Given the description of an element on the screen output the (x, y) to click on. 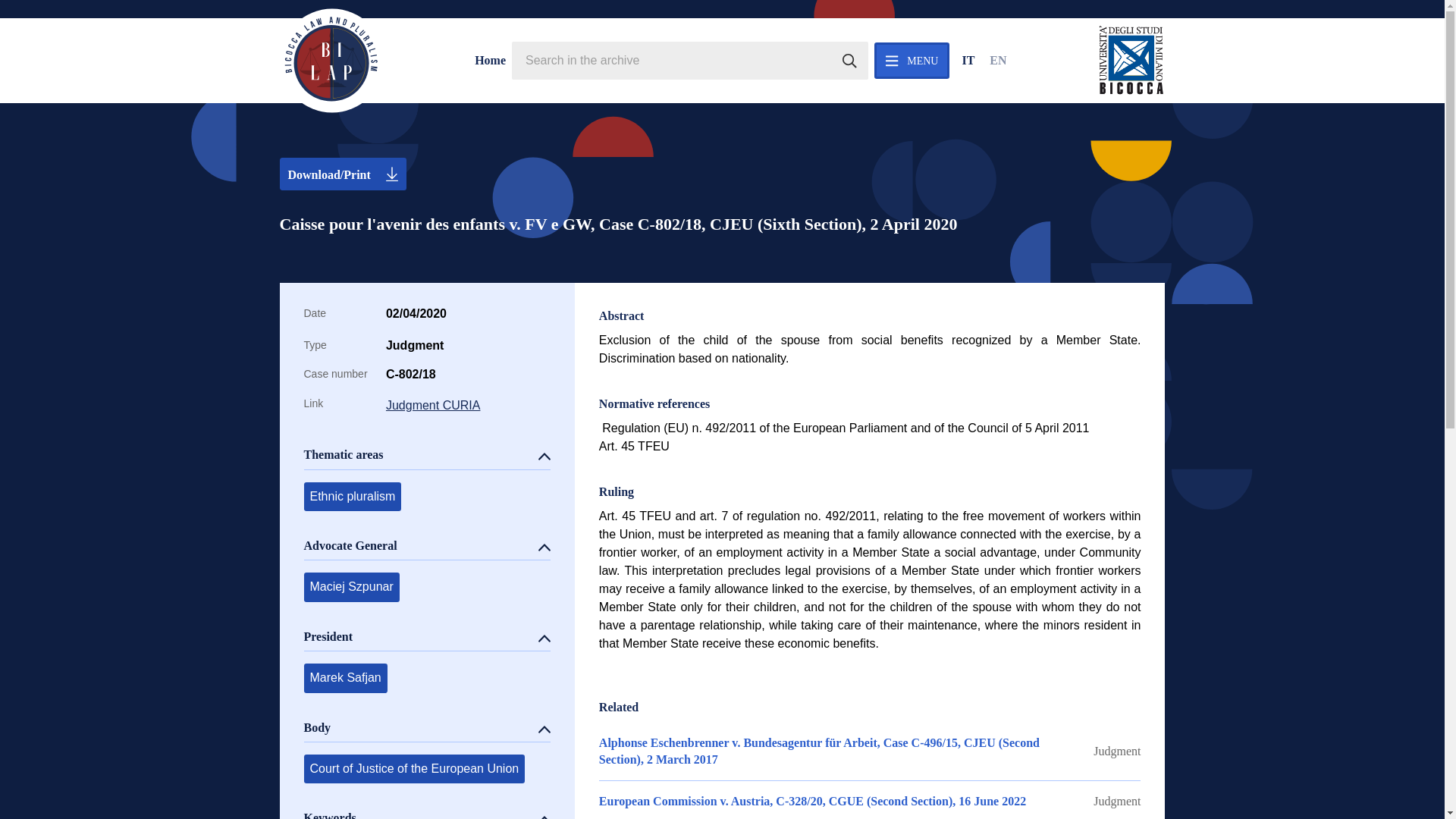
EN (998, 60)
Home (489, 60)
Court of Justice of the European Union (413, 768)
Ethnic pluralism (351, 496)
Marek Safjan (344, 677)
MENU (912, 60)
Maciej Szpunar (350, 586)
Judgment CURIA (467, 405)
Search in the archive (849, 60)
